Given the description of an element on the screen output the (x, y) to click on. 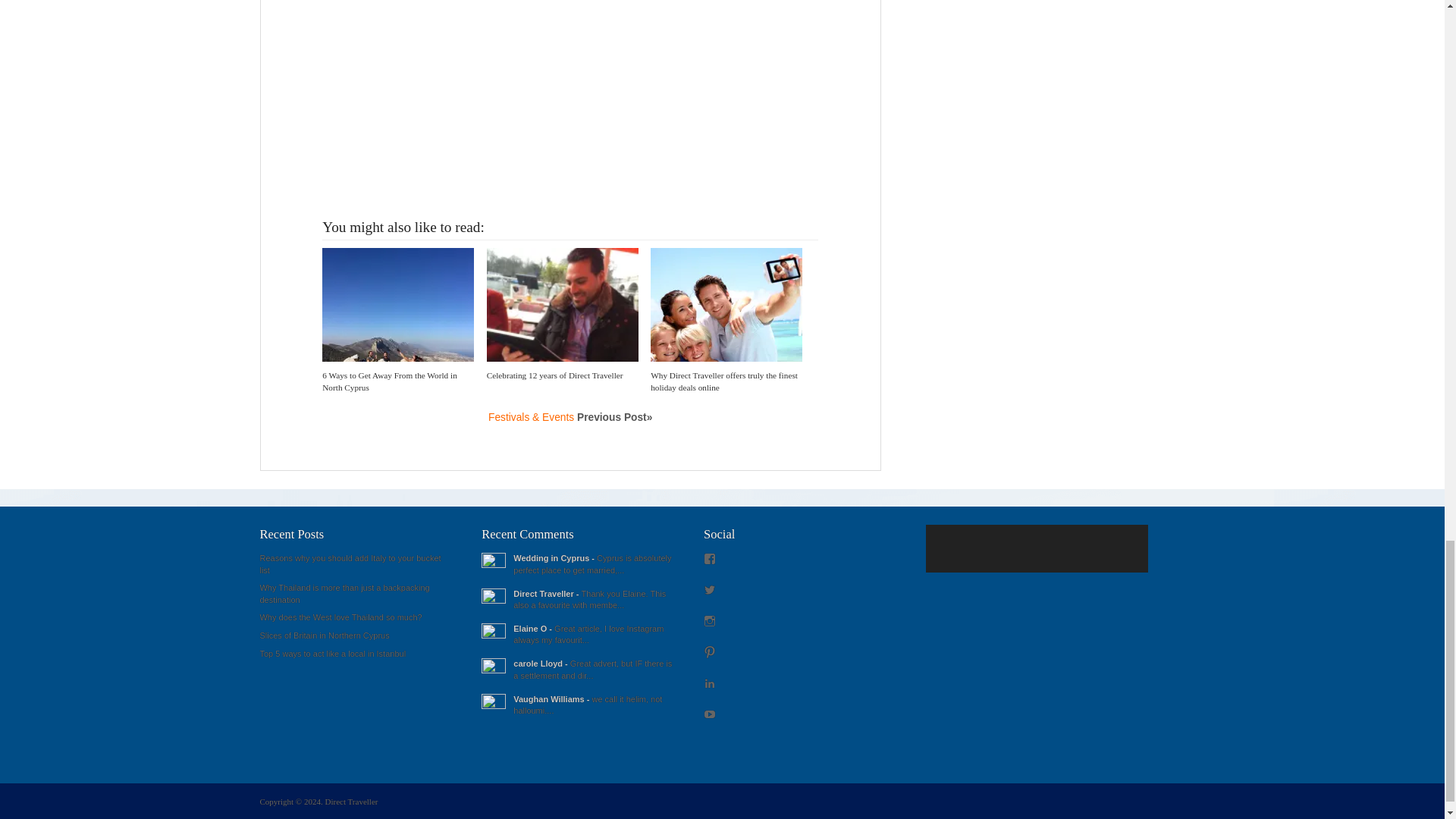
6 Ways to Get Away From the World in North Cyprus (389, 381)
Celebrating 12 years of Direct Traveller (554, 375)
